Given the description of an element on the screen output the (x, y) to click on. 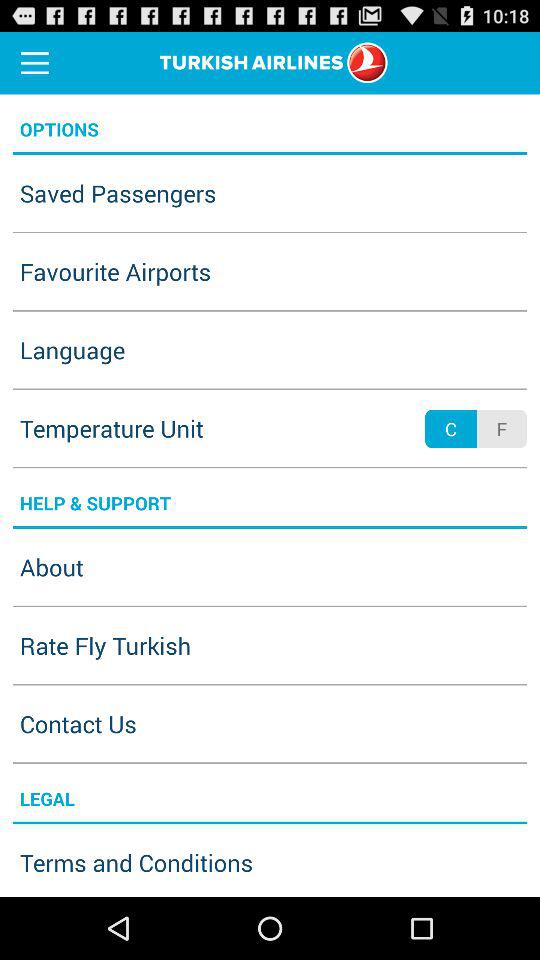
jump until f app (501, 428)
